Given the description of an element on the screen output the (x, y) to click on. 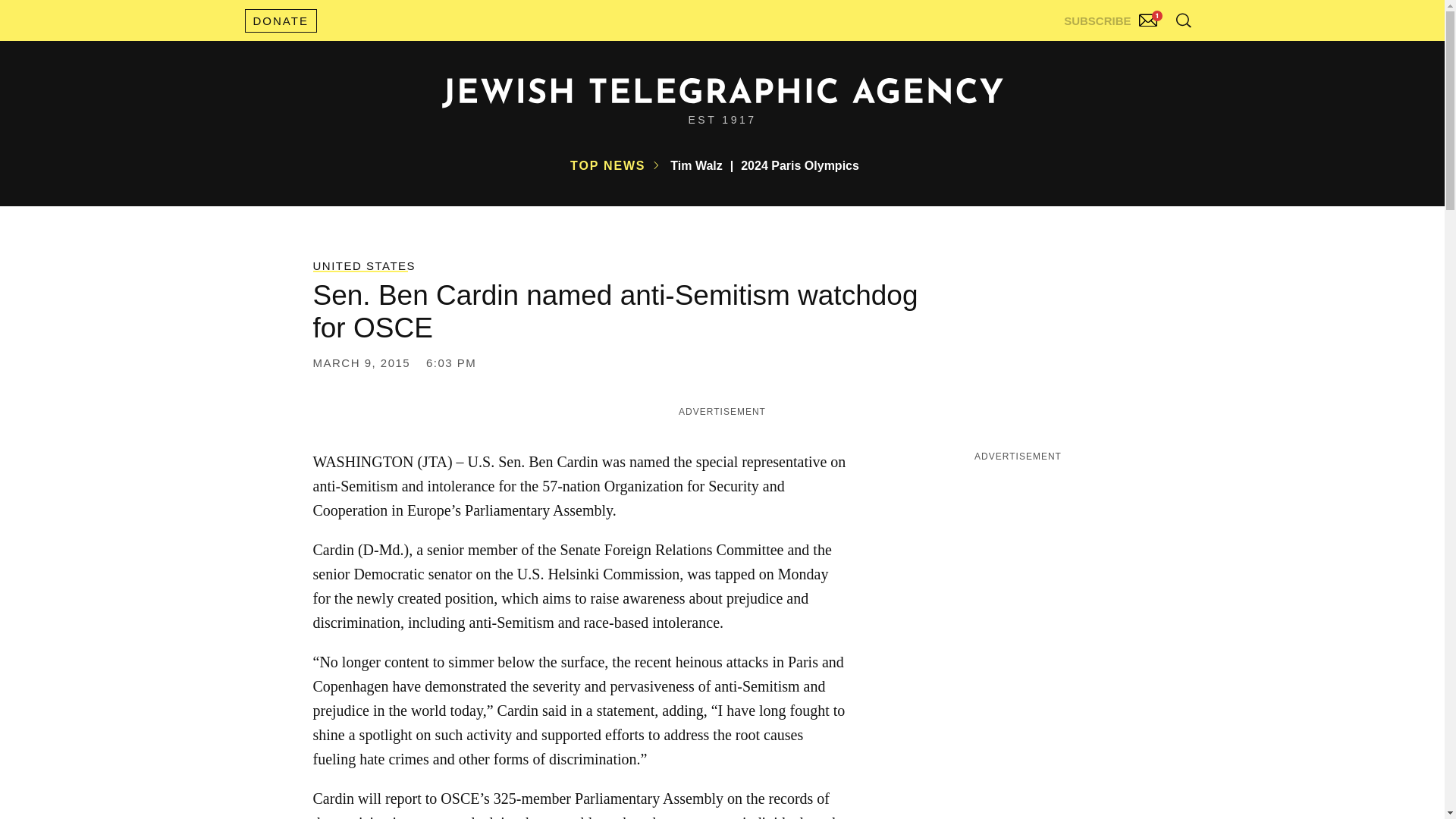
SUBSCRIBE (1112, 17)
DONATE (279, 20)
SEARCH TOGGLESEARCH TOGGLE (1182, 20)
Search (1144, 53)
